Given the description of an element on the screen output the (x, y) to click on. 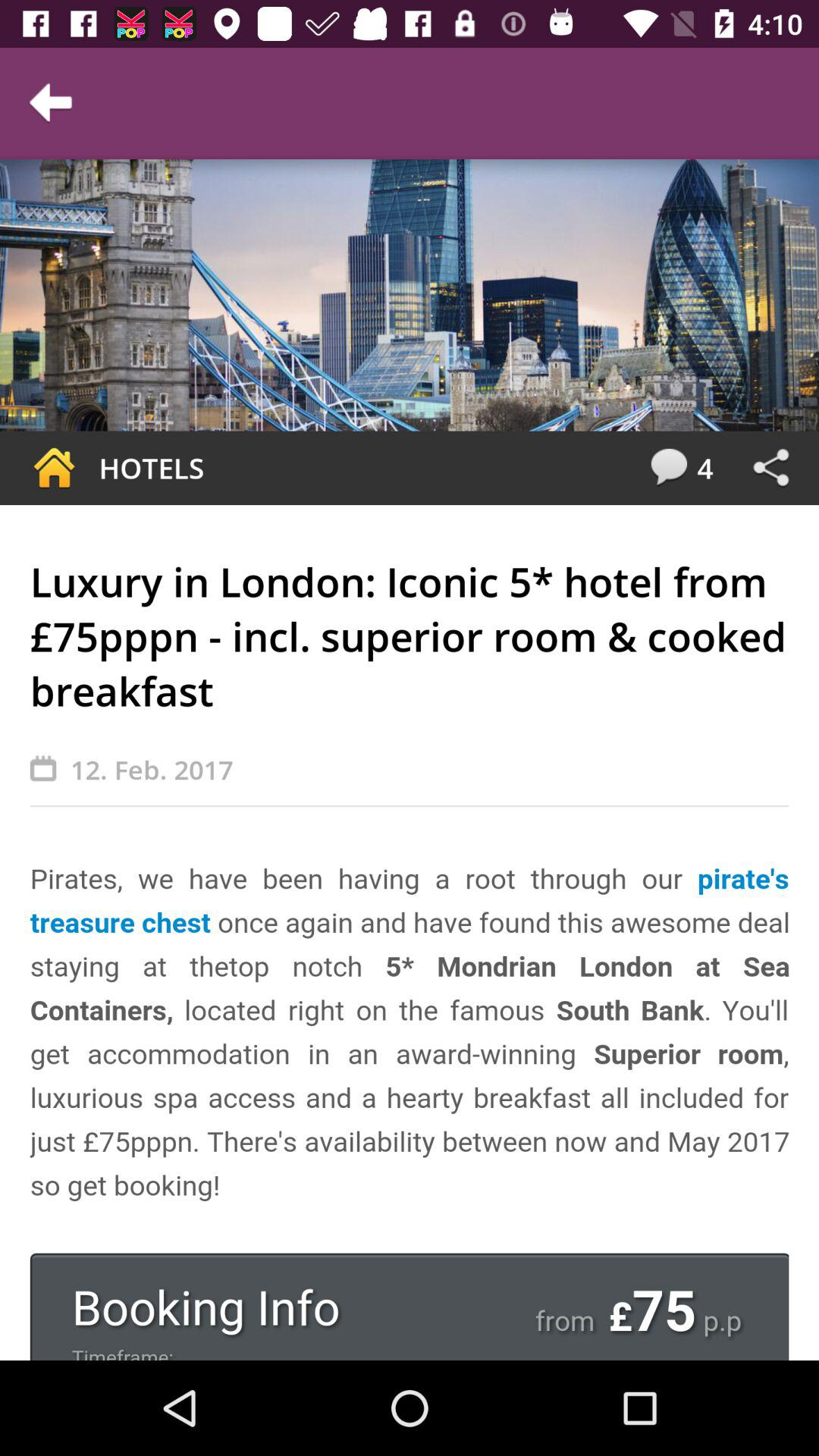
link to book hotel (409, 1108)
